Given the description of an element on the screen output the (x, y) to click on. 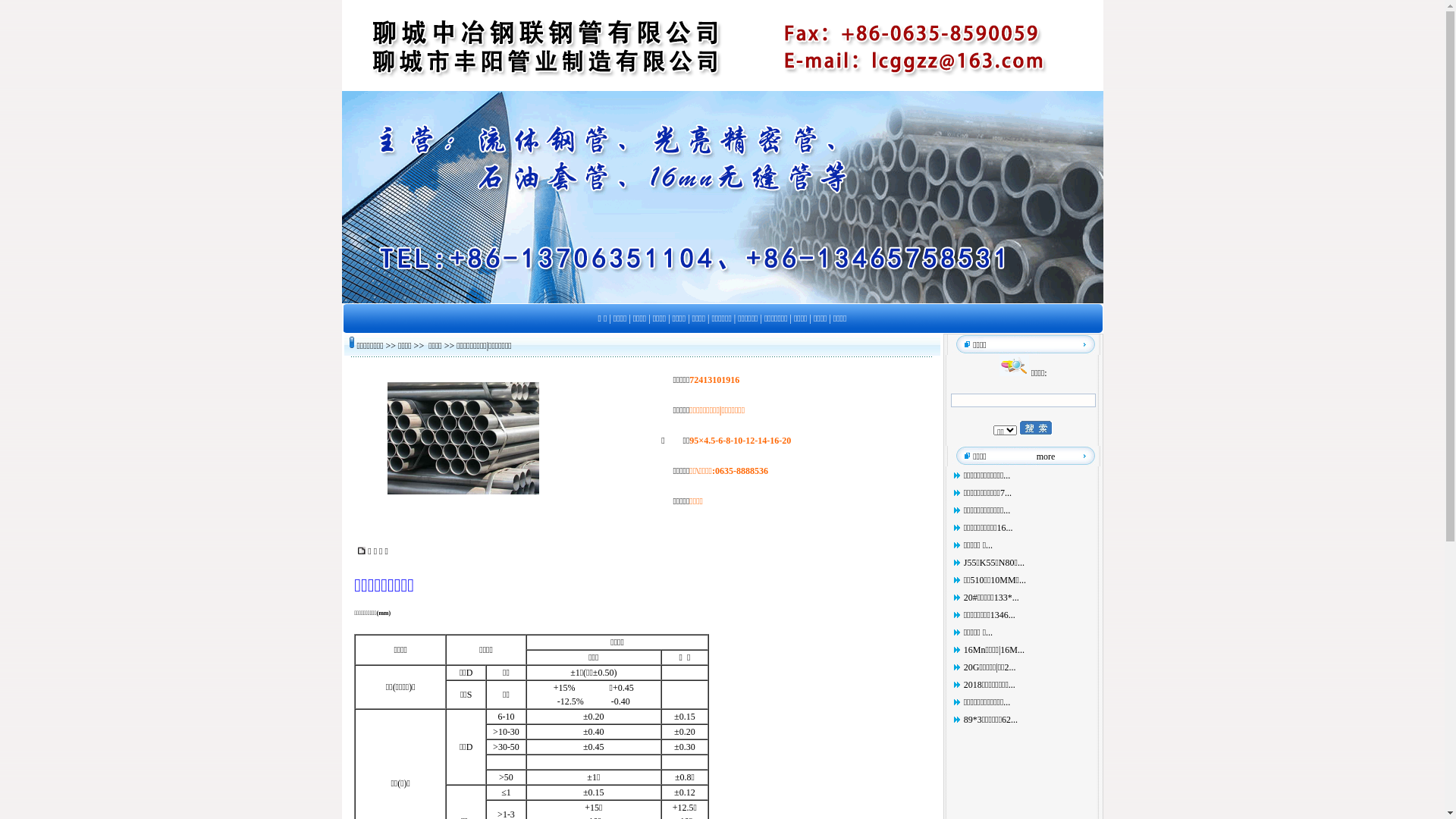
more Element type: text (1045, 455)
